Given the description of an element on the screen output the (x, y) to click on. 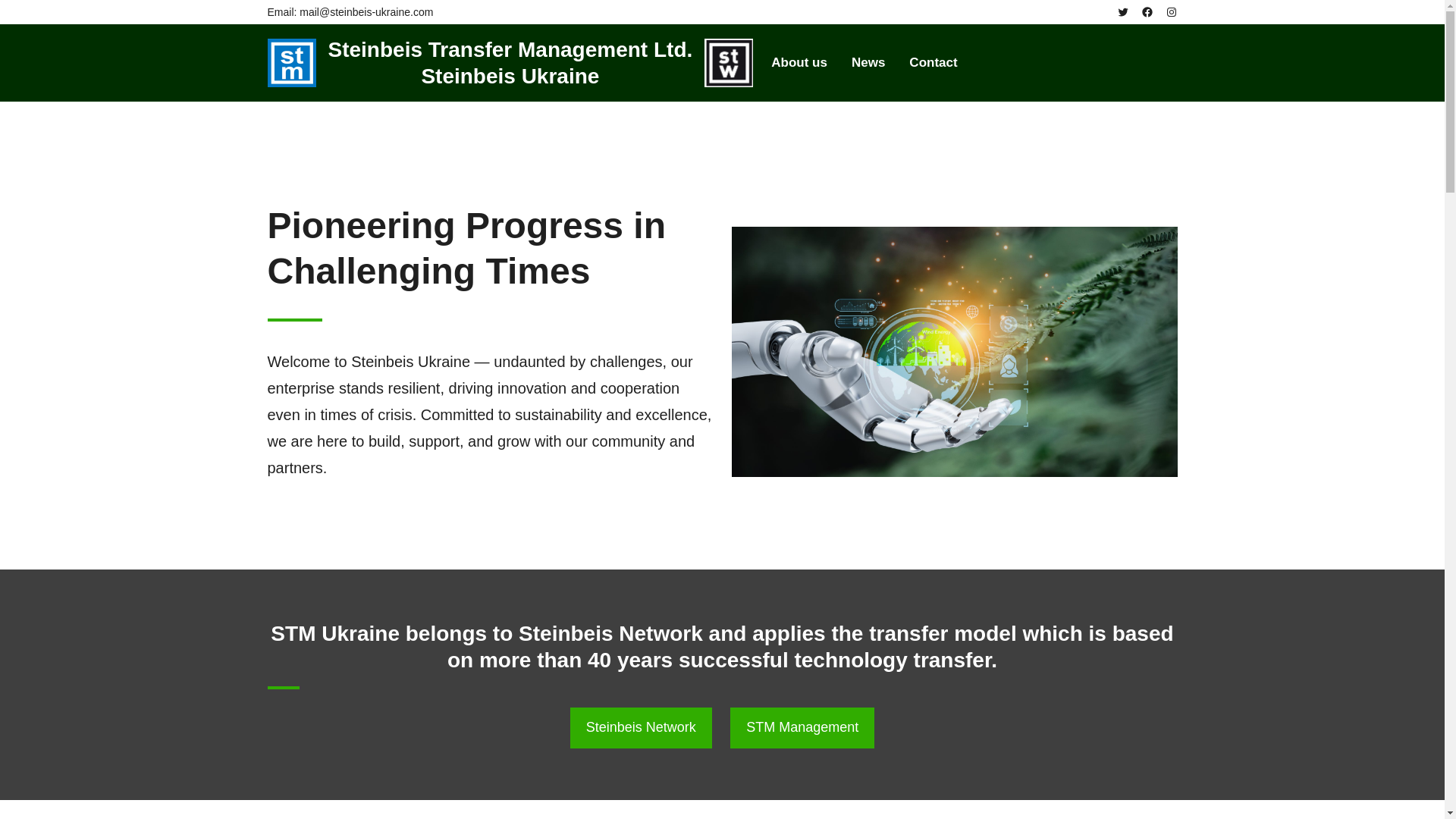
Twitter (1122, 11)
STM Management (802, 728)
Instagram (1170, 11)
About us (798, 62)
Steinbeis Network (640, 728)
Facebook (1146, 11)
